Given the description of an element on the screen output the (x, y) to click on. 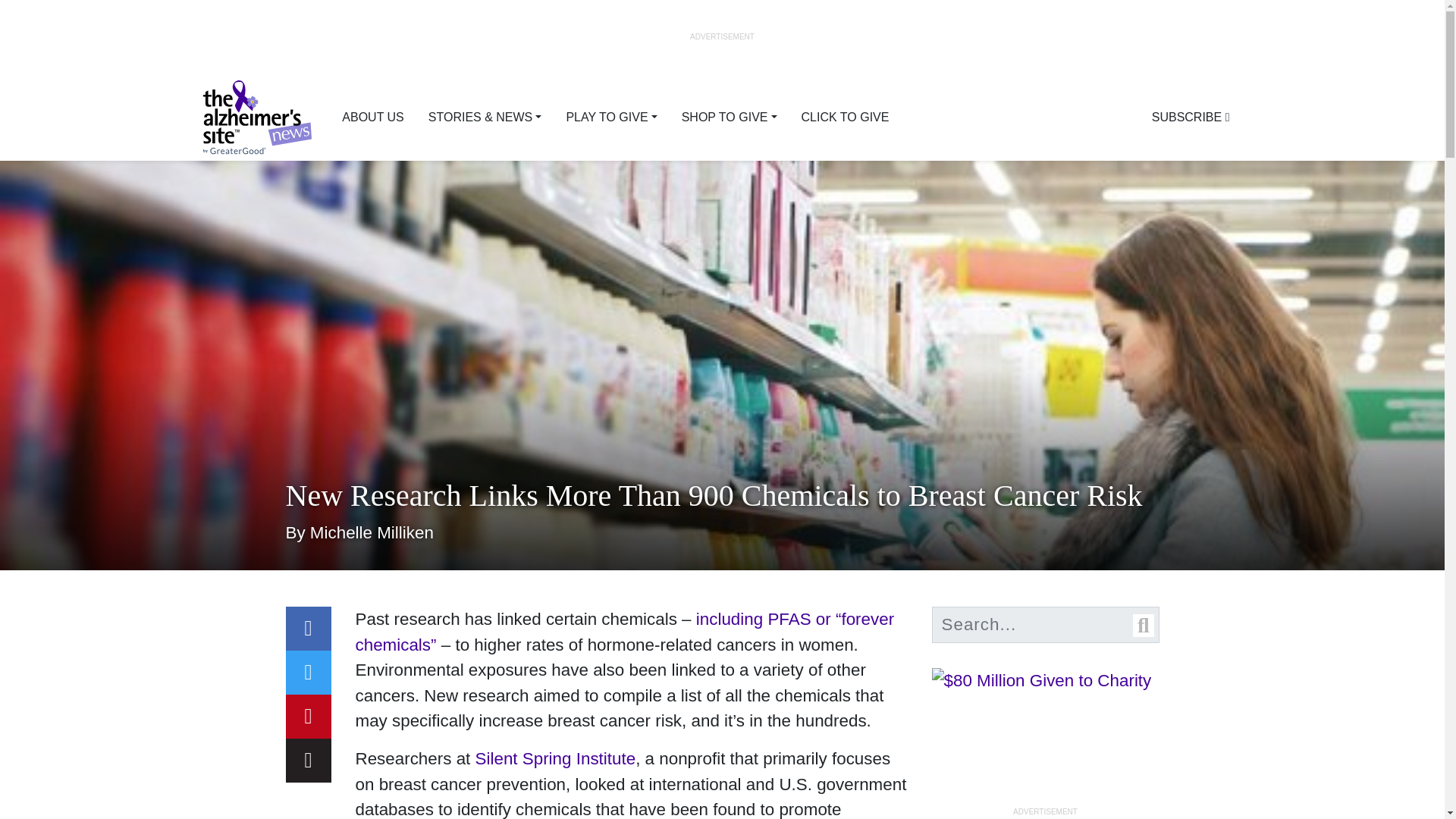
PLAY TO GIVE (610, 117)
CLICK TO GIVE (845, 117)
SHOP TO GIVE (729, 117)
ABOUT US (373, 117)
SUBSCRIBE (1190, 117)
Michelle Milliken (371, 532)
